Given the description of an element on the screen output the (x, y) to click on. 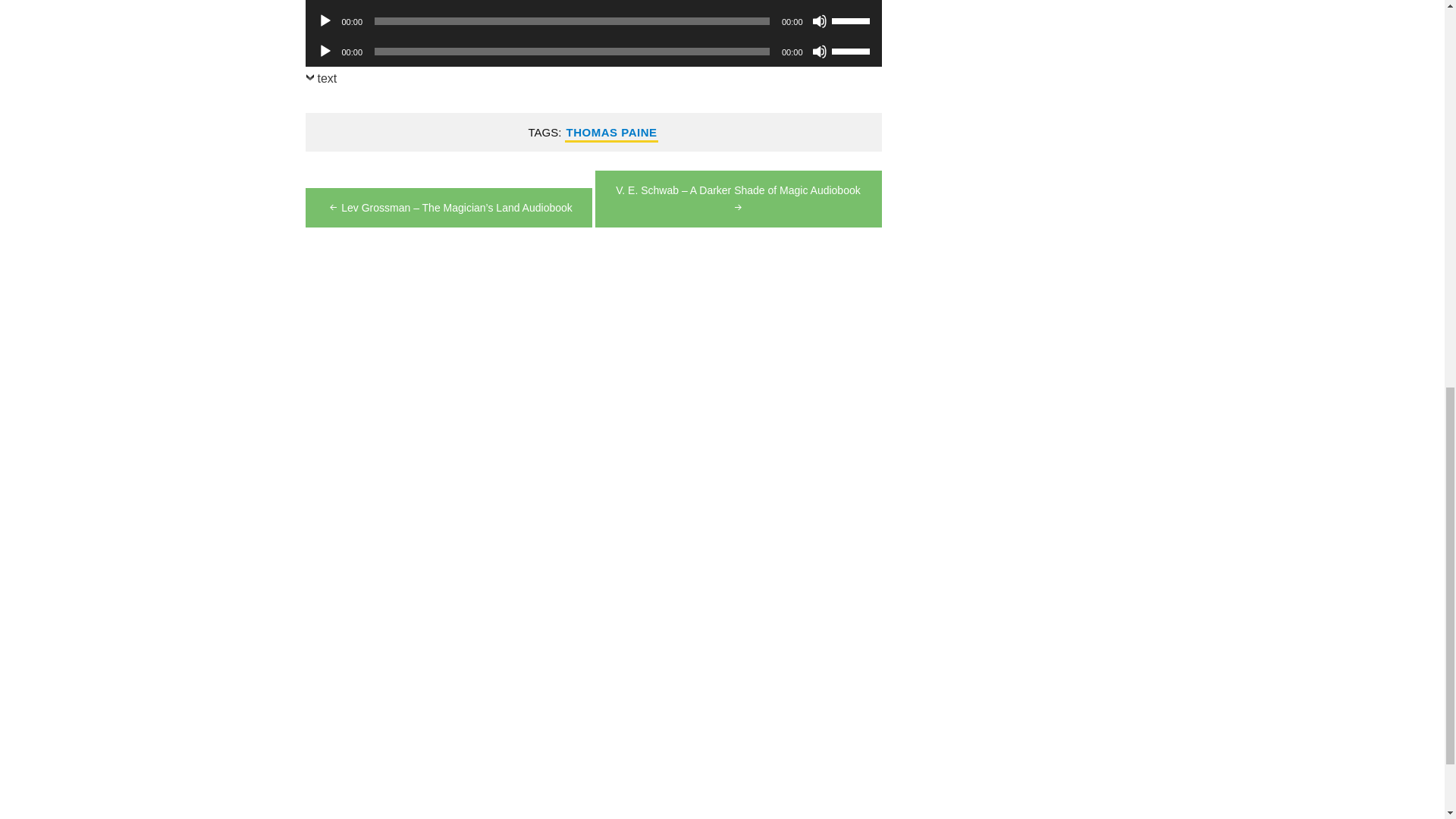
Mute (818, 51)
Play (324, 20)
text (320, 82)
Play (324, 51)
Mute (818, 20)
THOMAS PAINE (611, 132)
